Given the description of an element on the screen output the (x, y) to click on. 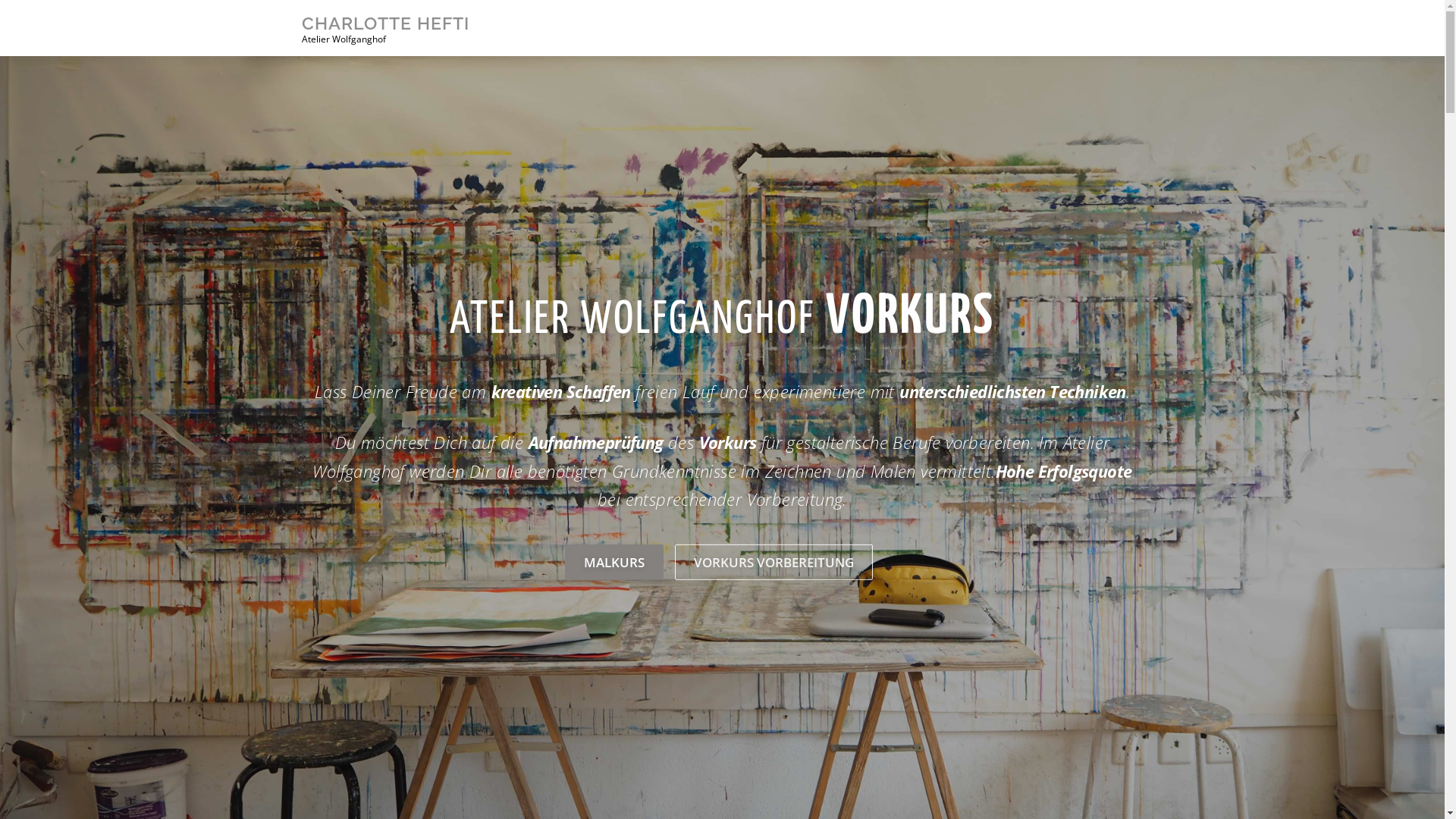
MALKURS Element type: text (613, 561)
VORKURS VORBEREITUNG Element type: text (773, 561)
Zum Inhalt springen Element type: text (51, 9)
CHARLOTTE HEFTI Element type: text (385, 22)
